Given the description of an element on the screen output the (x, y) to click on. 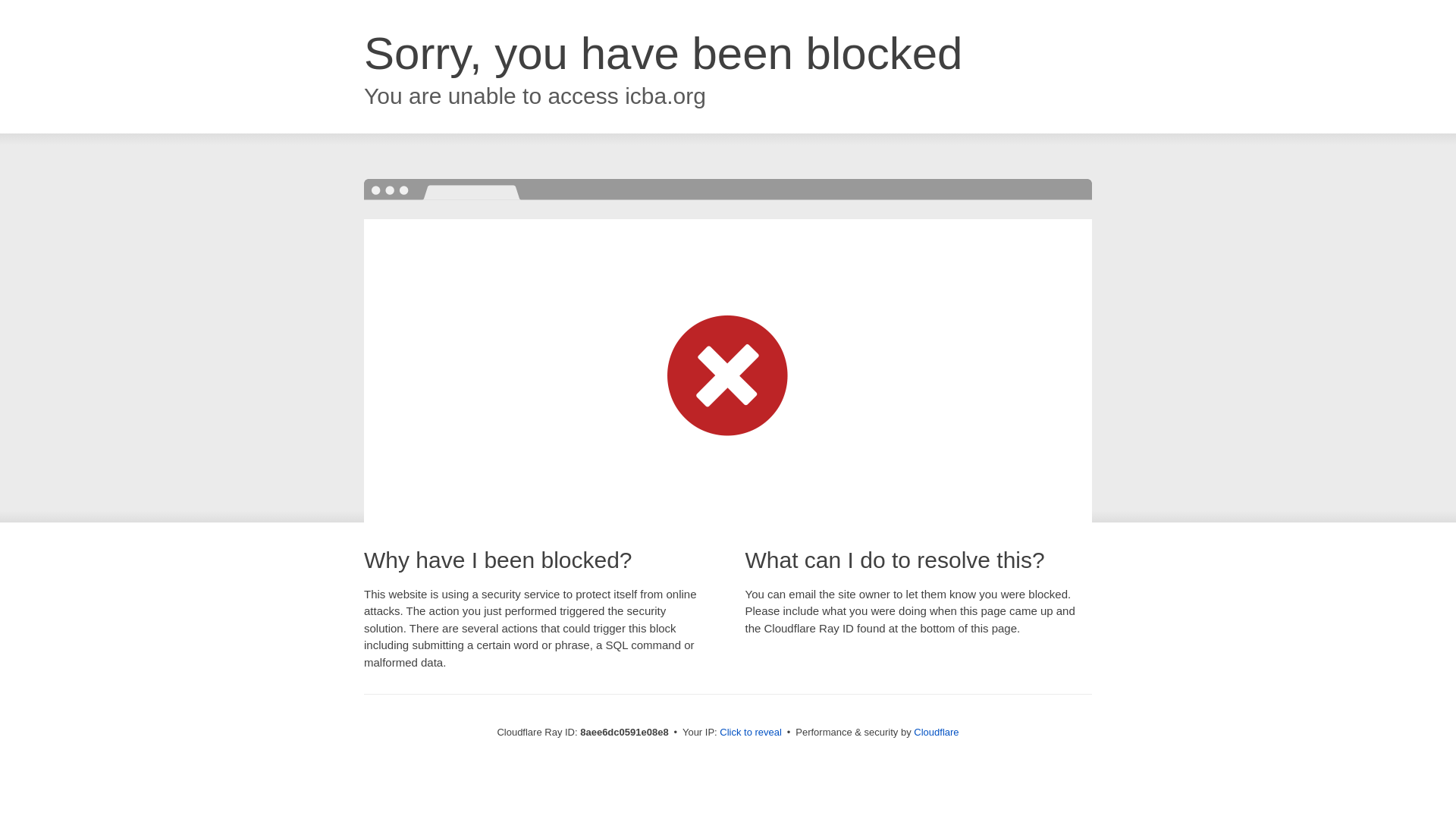
Cloudflare (936, 731)
Click to reveal (750, 732)
